Given the description of an element on the screen output the (x, y) to click on. 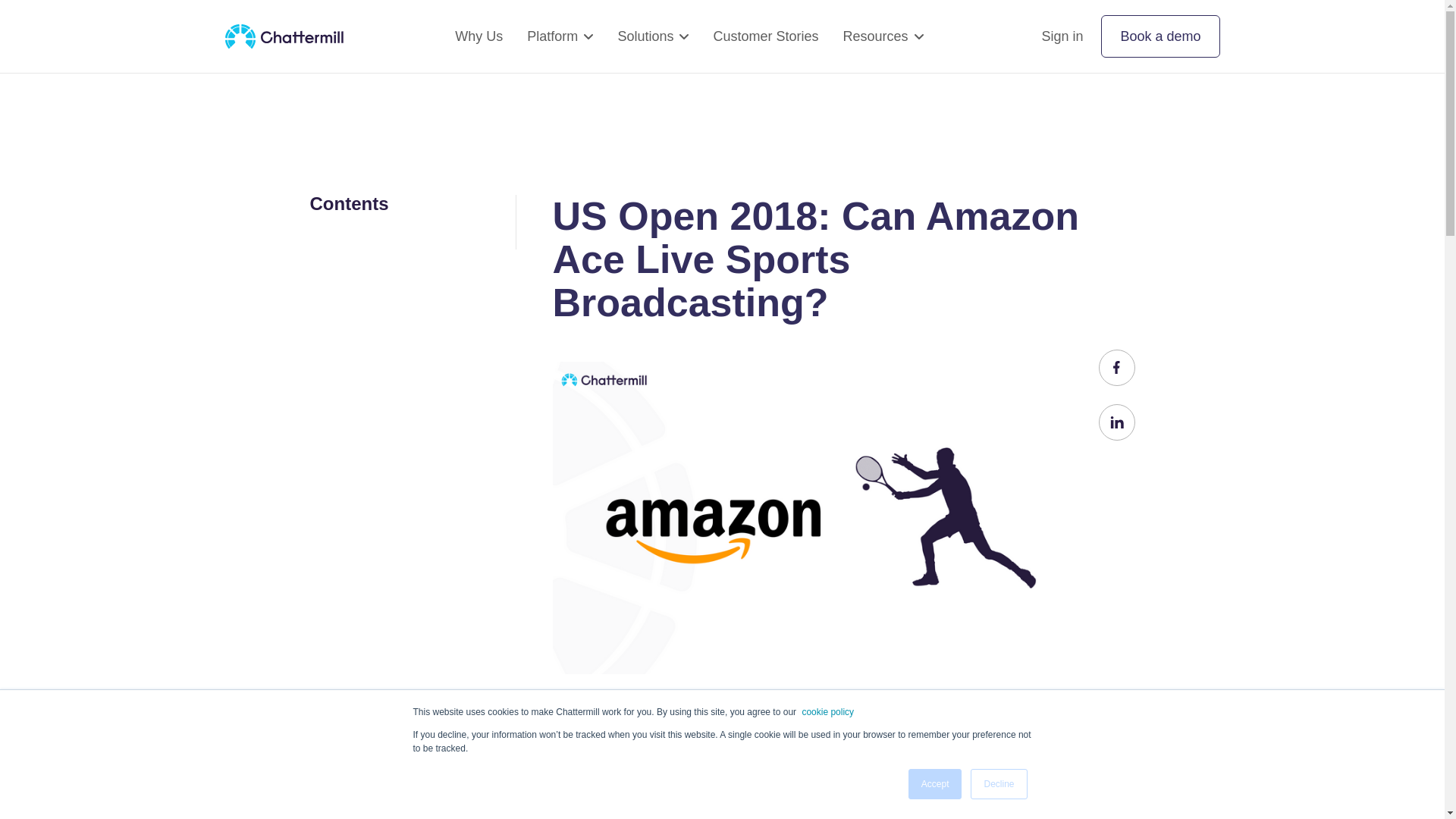
Customer Stories (765, 35)
cookie policy (827, 711)
Decline (998, 784)
Why Us (478, 35)
Accept (935, 784)
